Given the description of an element on the screen output the (x, y) to click on. 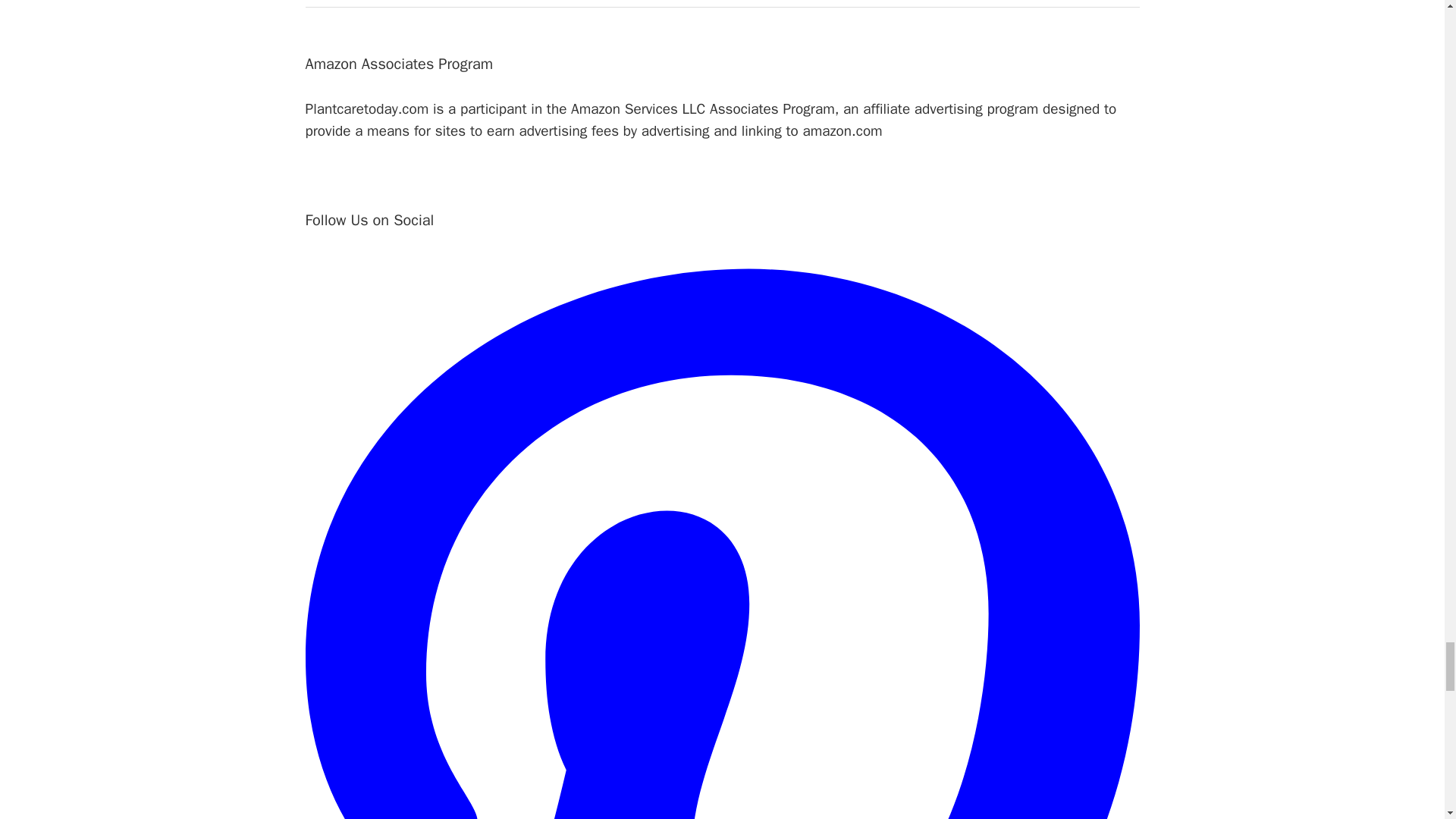
Affiliate Disclosure (363, 0)
